Given the description of an element on the screen output the (x, y) to click on. 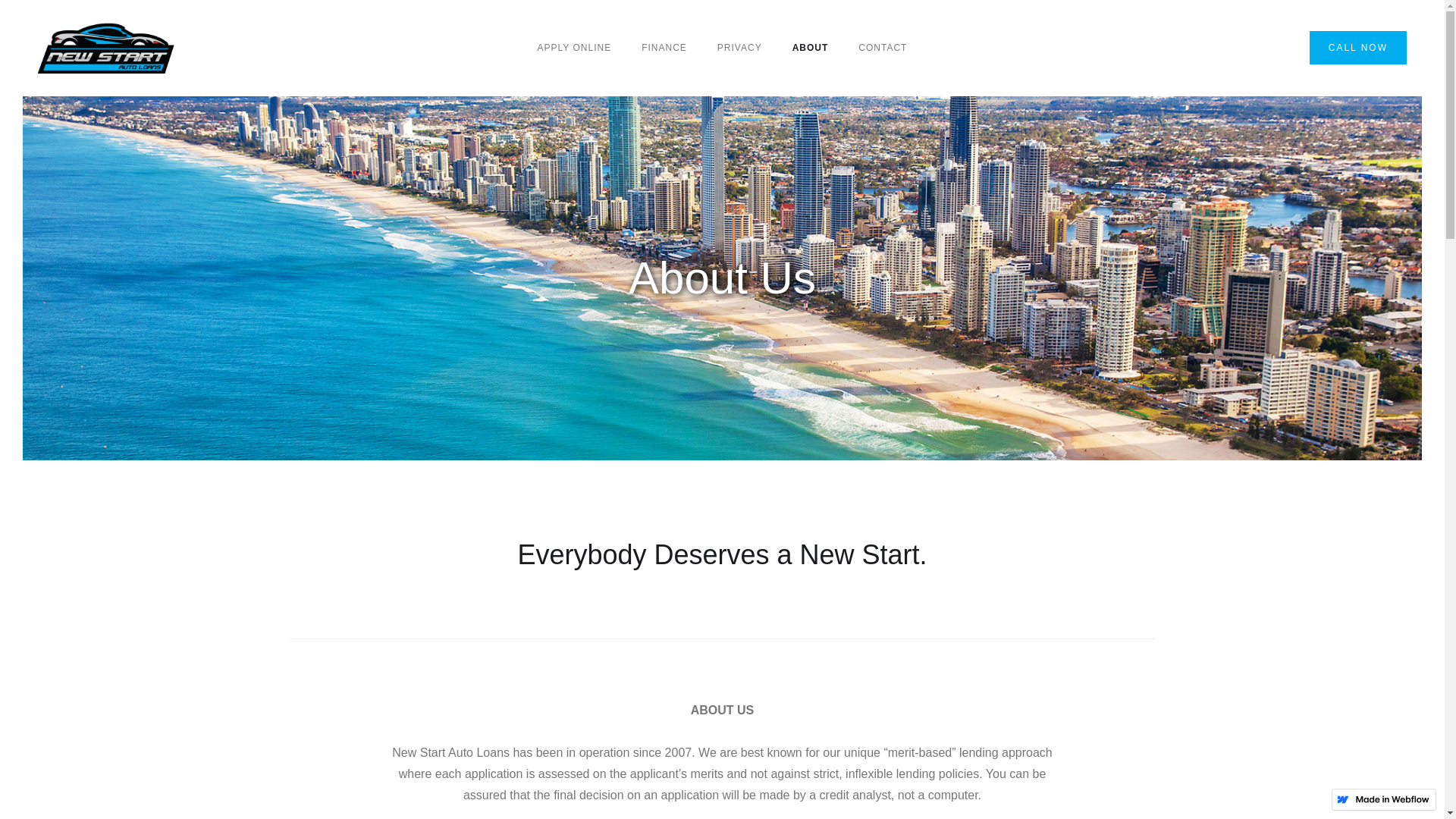
CONTACT Element type: text (882, 47)
ABOUT Element type: text (810, 47)
APPLY ONLINE Element type: text (574, 47)
CALL NOW Element type: text (1357, 47)
FINANCE Element type: text (664, 47)
PRIVACY Element type: text (739, 47)
